Given the description of an element on the screen output the (x, y) to click on. 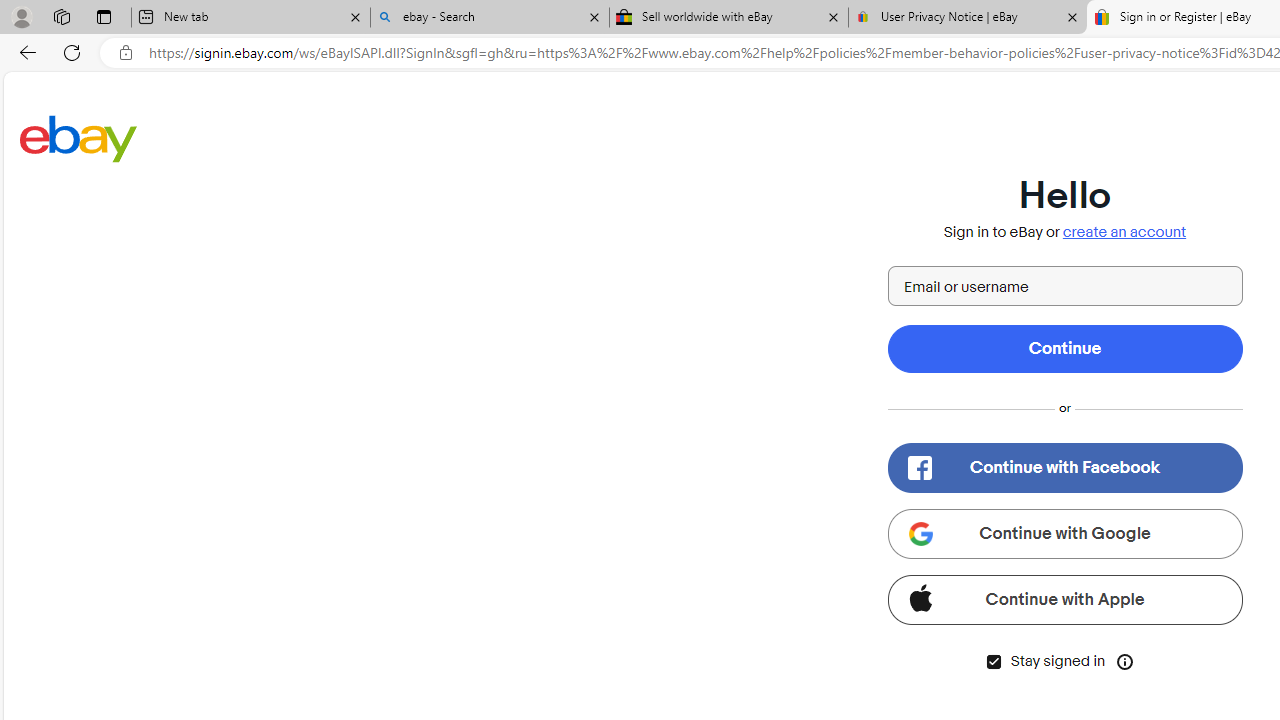
Email or username (1064, 286)
Continue with Apple (1064, 599)
User Privacy Notice | eBay (967, 17)
